Given the description of an element on the screen output the (x, y) to click on. 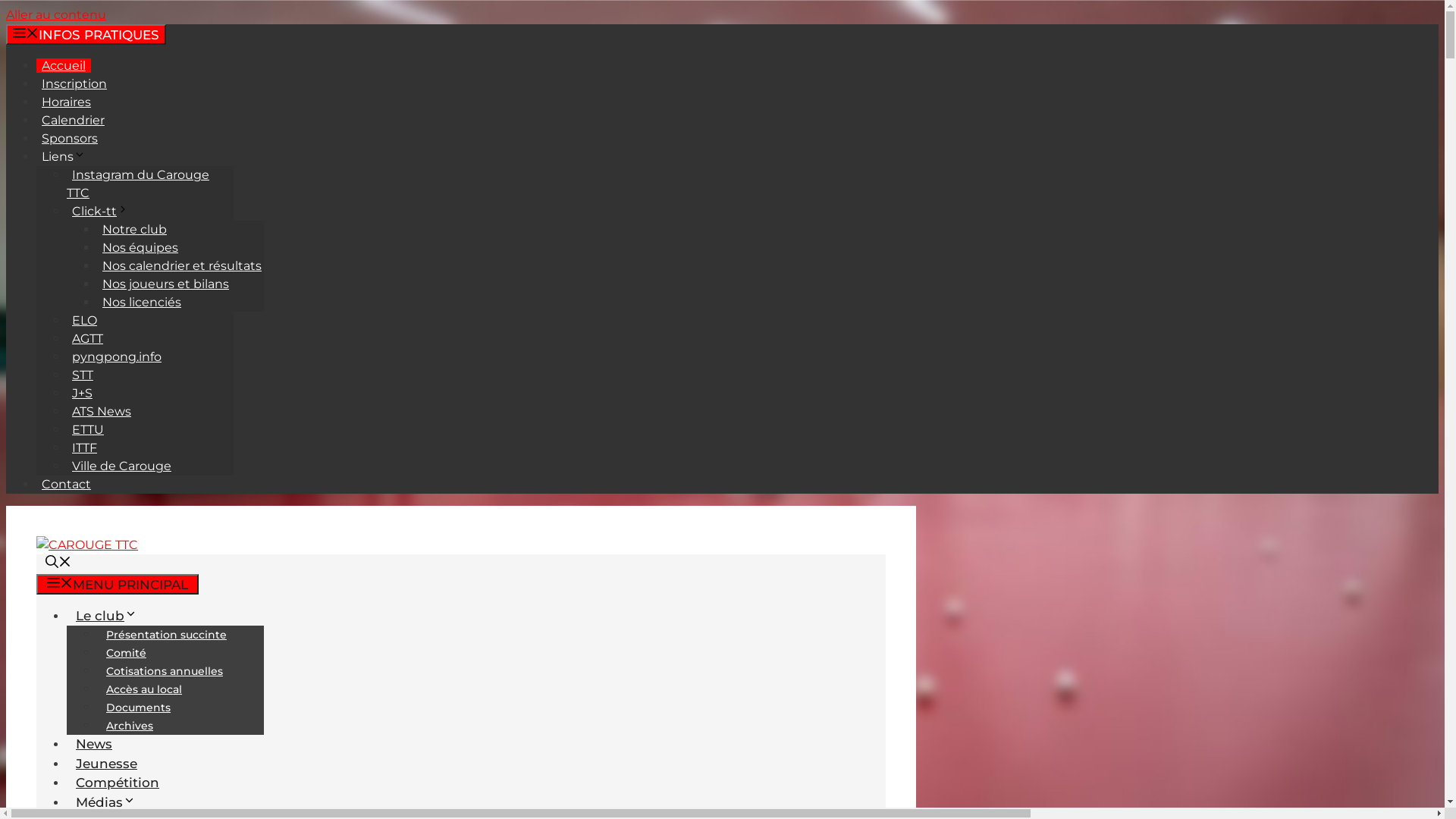
Click-tt Element type: text (102, 210)
INFOS PRATIQUES Element type: text (86, 34)
ELO Element type: text (84, 320)
Aller au contenu Element type: text (56, 14)
Contact Element type: text (66, 483)
Cotisations annuelles Element type: text (164, 670)
ETTU Element type: text (87, 429)
J+S Element type: text (81, 392)
pyngpong.info Element type: text (116, 356)
STT Element type: text (82, 374)
Documents Element type: text (138, 707)
Accueil Element type: text (63, 65)
News Element type: text (93, 743)
Le club Element type: text (110, 615)
Ville de Carouge Element type: text (121, 465)
Horaires Element type: text (66, 101)
Sponsors Element type: text (69, 138)
Archives Element type: text (129, 725)
Notre club Element type: text (134, 229)
ITTF Element type: text (84, 447)
Instagram du Carouge TTC Element type: text (137, 183)
Calendrier Element type: text (72, 119)
ATS News Element type: text (101, 411)
MENU PRINCIPAL Element type: text (117, 583)
Jeunesse Element type: text (106, 762)
Inscription Element type: text (74, 83)
Liens Element type: text (66, 156)
AGTT Element type: text (87, 338)
Nos joueurs et bilans Element type: text (165, 283)
